Given the description of an element on the screen output the (x, y) to click on. 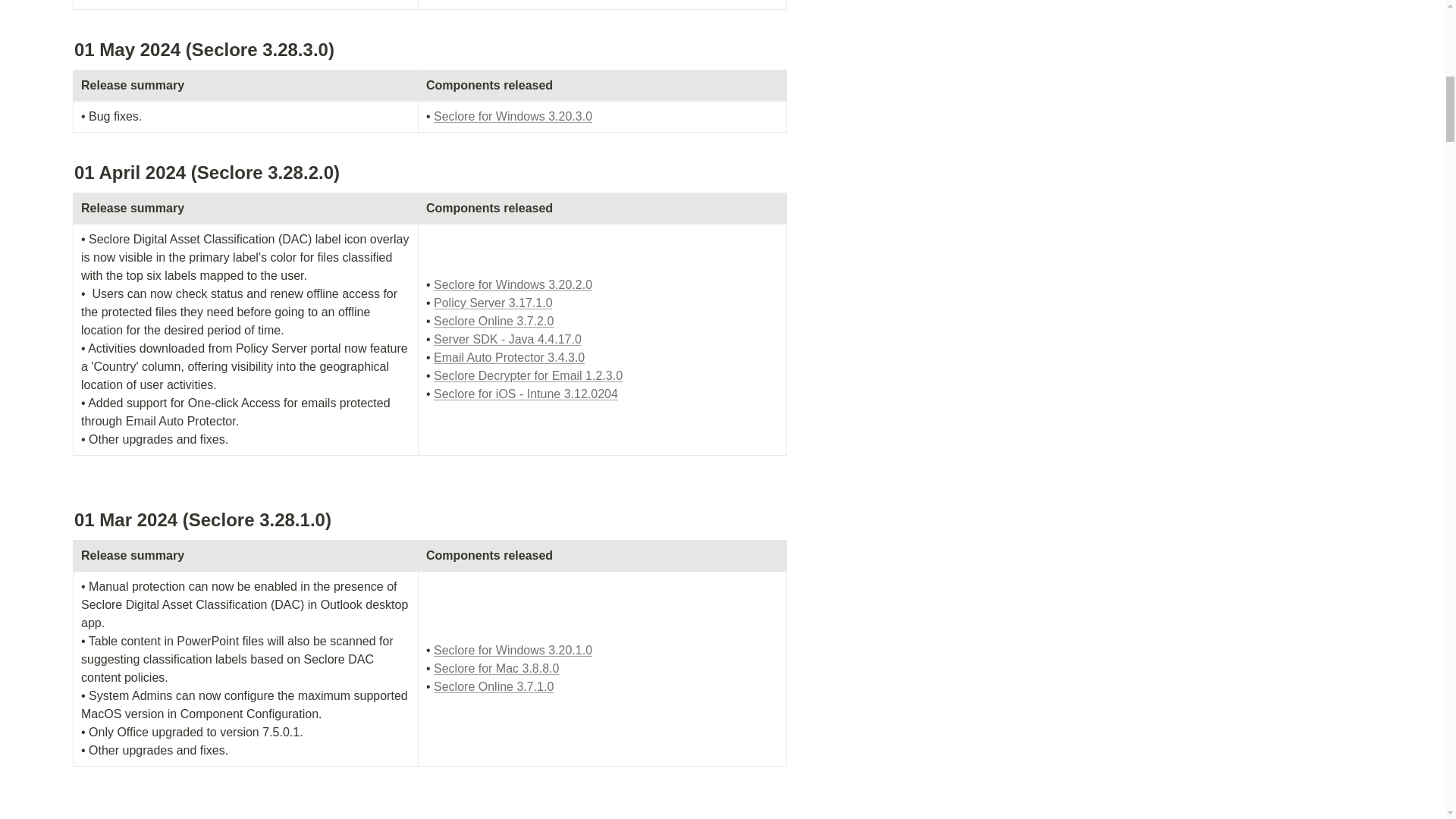
Seclore Online 3.7.1.0 (493, 686)
Seclore for Windows 3.20.2.0 (512, 284)
Seclore for Windows 3.20.1.0 (512, 649)
Seclore for Mac 3.8.8.0 (496, 667)
Seclore Decrypter for Email 1.2.3.0 (528, 375)
Server SDK - Java 4.4.17.0 (506, 338)
Seclore for iOS - Intune 3.12.0204 (525, 393)
Policy Server 3.17.1.0 (493, 302)
Seclore Online 3.7.2.0 (493, 320)
Email Auto Protector 3.4.3.0 (509, 357)
Seclore for Windows 3.20.3.0 (512, 115)
